Given the description of an element on the screen output the (x, y) to click on. 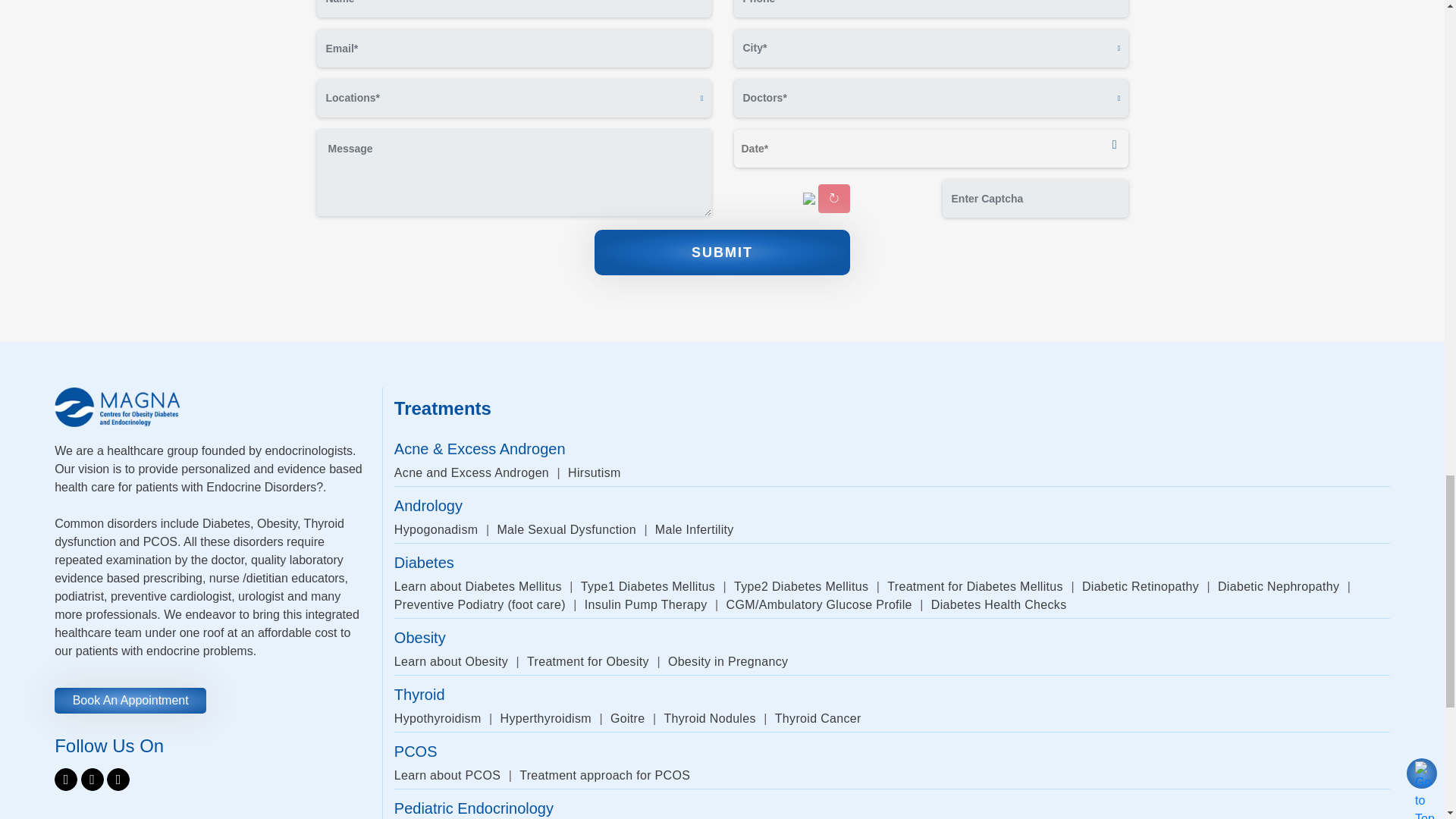
10 digit mobile number (930, 8)
